Given the description of an element on the screen output the (x, y) to click on. 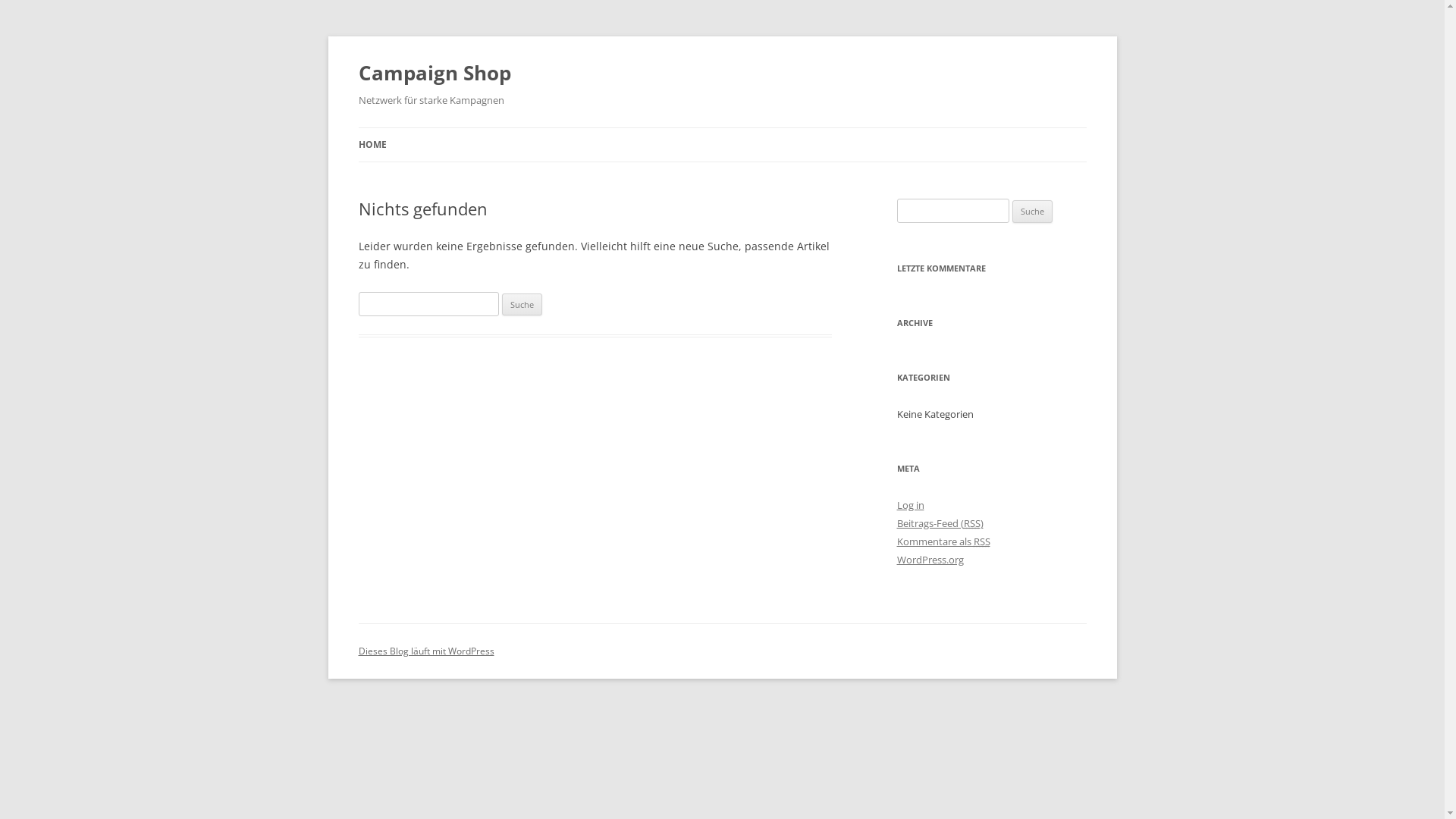
Suche Element type: text (522, 304)
Suche Element type: text (1032, 211)
Zum Inhalt springen Element type: text (773, 132)
Beitrags-Feed (RSS) Element type: text (939, 523)
WordPress.org Element type: text (929, 559)
Campaign Shop Element type: text (433, 72)
Kommentare als RSS Element type: text (942, 541)
HOME Element type: text (371, 144)
Log in Element type: text (909, 504)
